Given the description of an element on the screen output the (x, y) to click on. 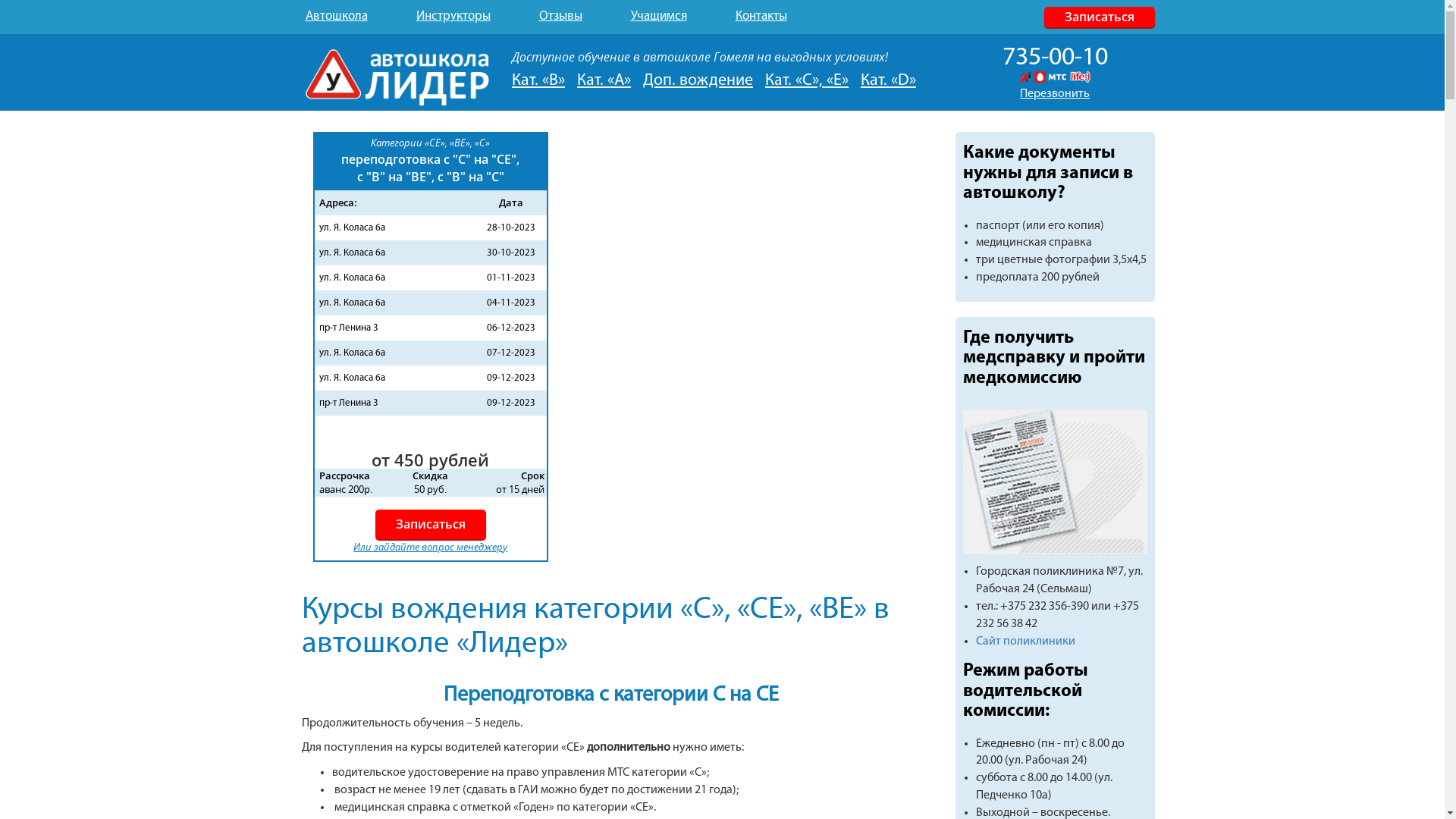
735-00-10 Element type: text (1054, 57)
